Given the description of an element on the screen output the (x, y) to click on. 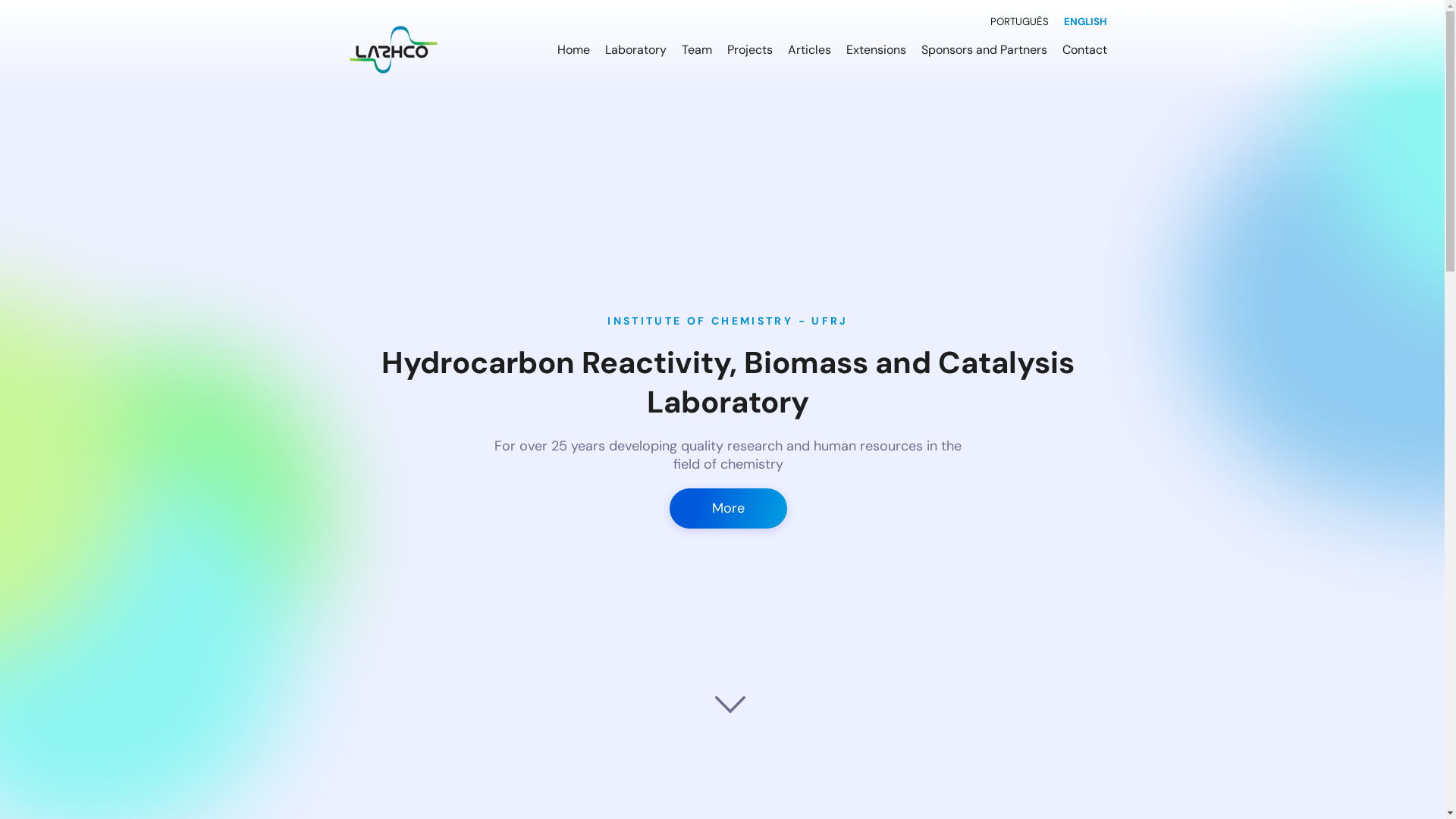
Sponsors and Partners Element type: text (984, 48)
Home Element type: text (573, 48)
ENGLISH Element type: text (1085, 21)
Contact Element type: text (1084, 48)
Extensions Element type: text (876, 48)
Projects Element type: text (749, 48)
Team Element type: text (696, 48)
Articles Element type: text (809, 48)
Laboratory Element type: text (635, 48)
